Given the description of an element on the screen output the (x, y) to click on. 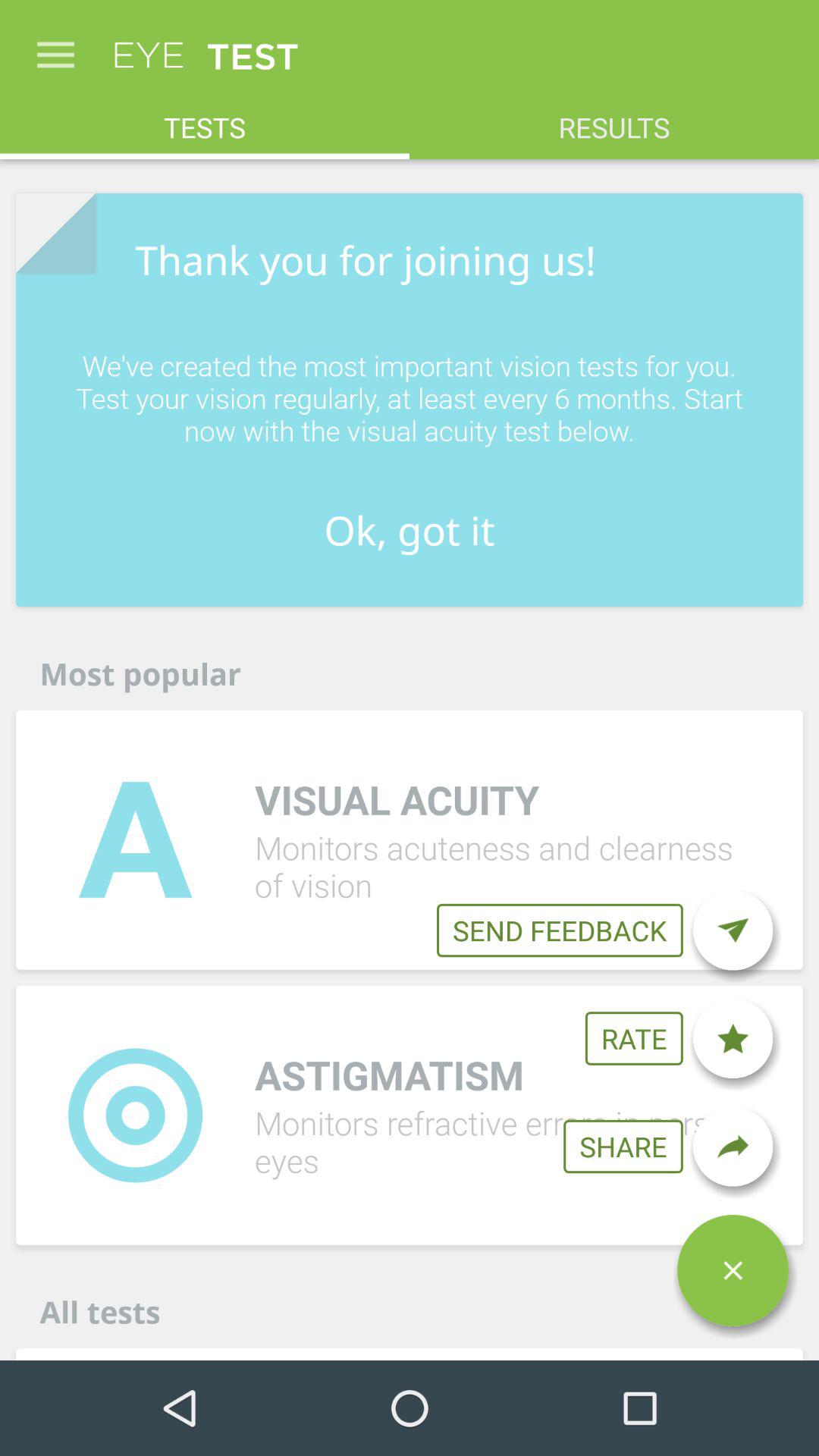
share the test (733, 1146)
